Given the description of an element on the screen output the (x, y) to click on. 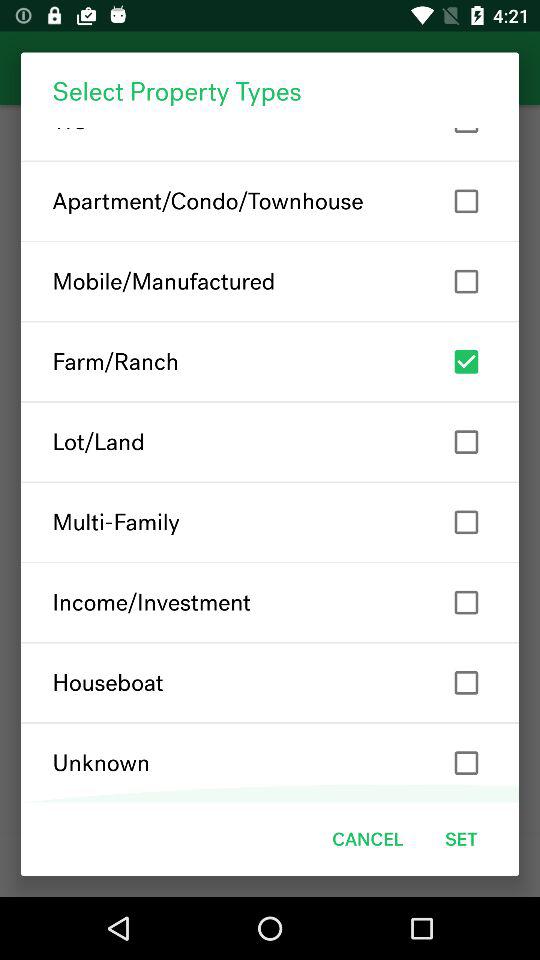
turn off set icon (461, 838)
